Given the description of an element on the screen output the (x, y) to click on. 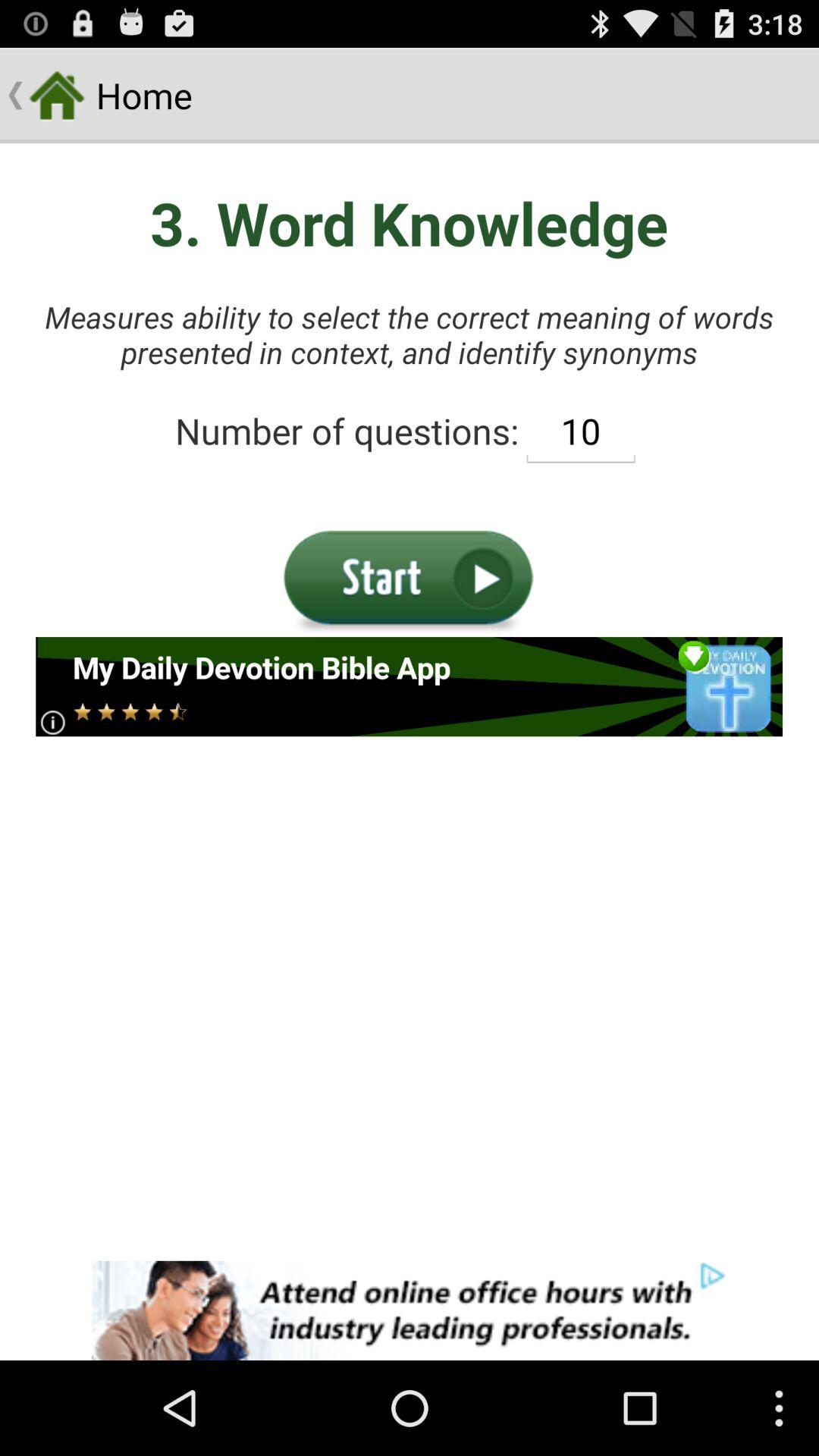
go to advertiser site (409, 1310)
